Given the description of an element on the screen output the (x, y) to click on. 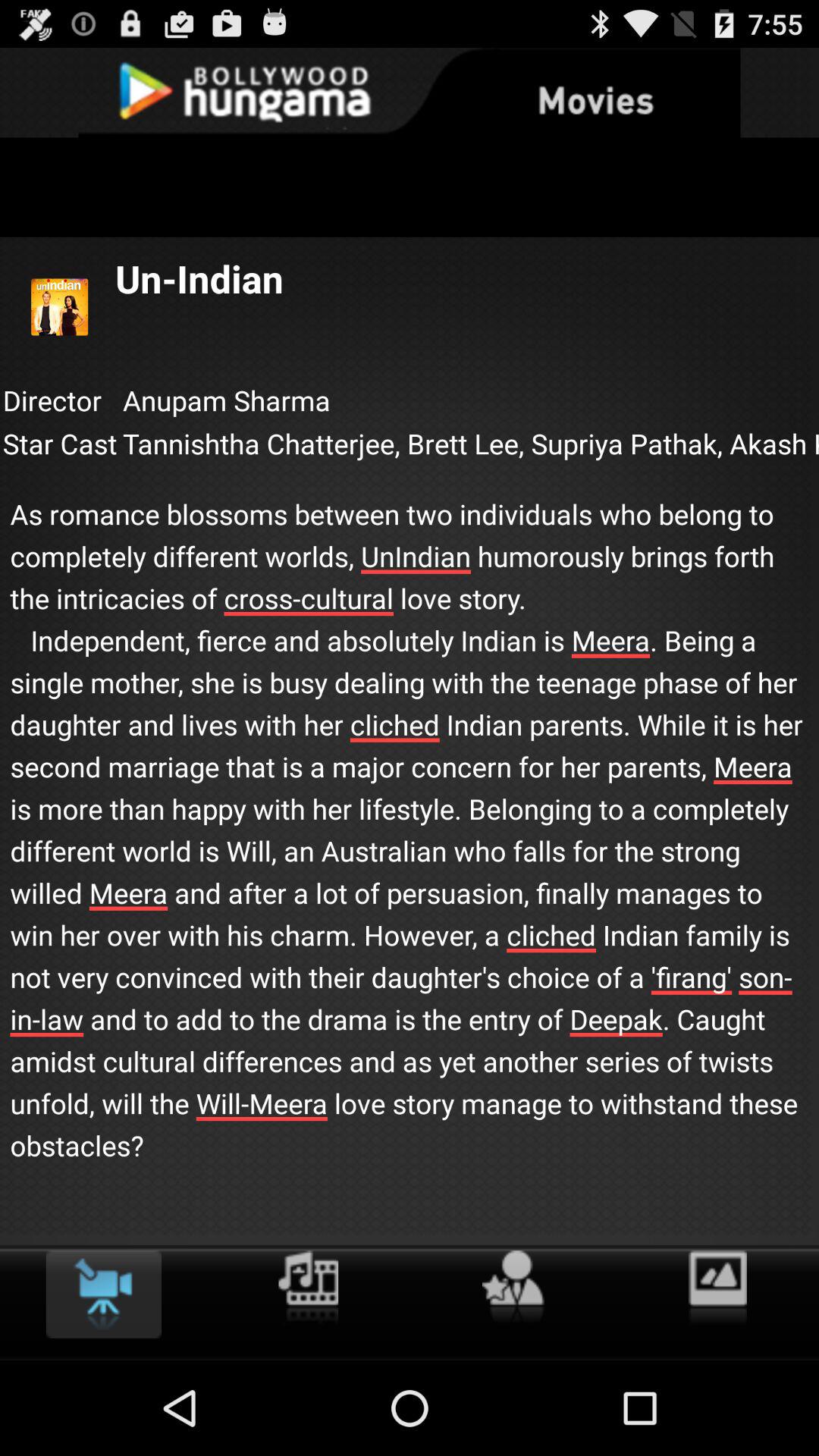
favourite click (512, 1287)
